Given the description of an element on the screen output the (x, y) to click on. 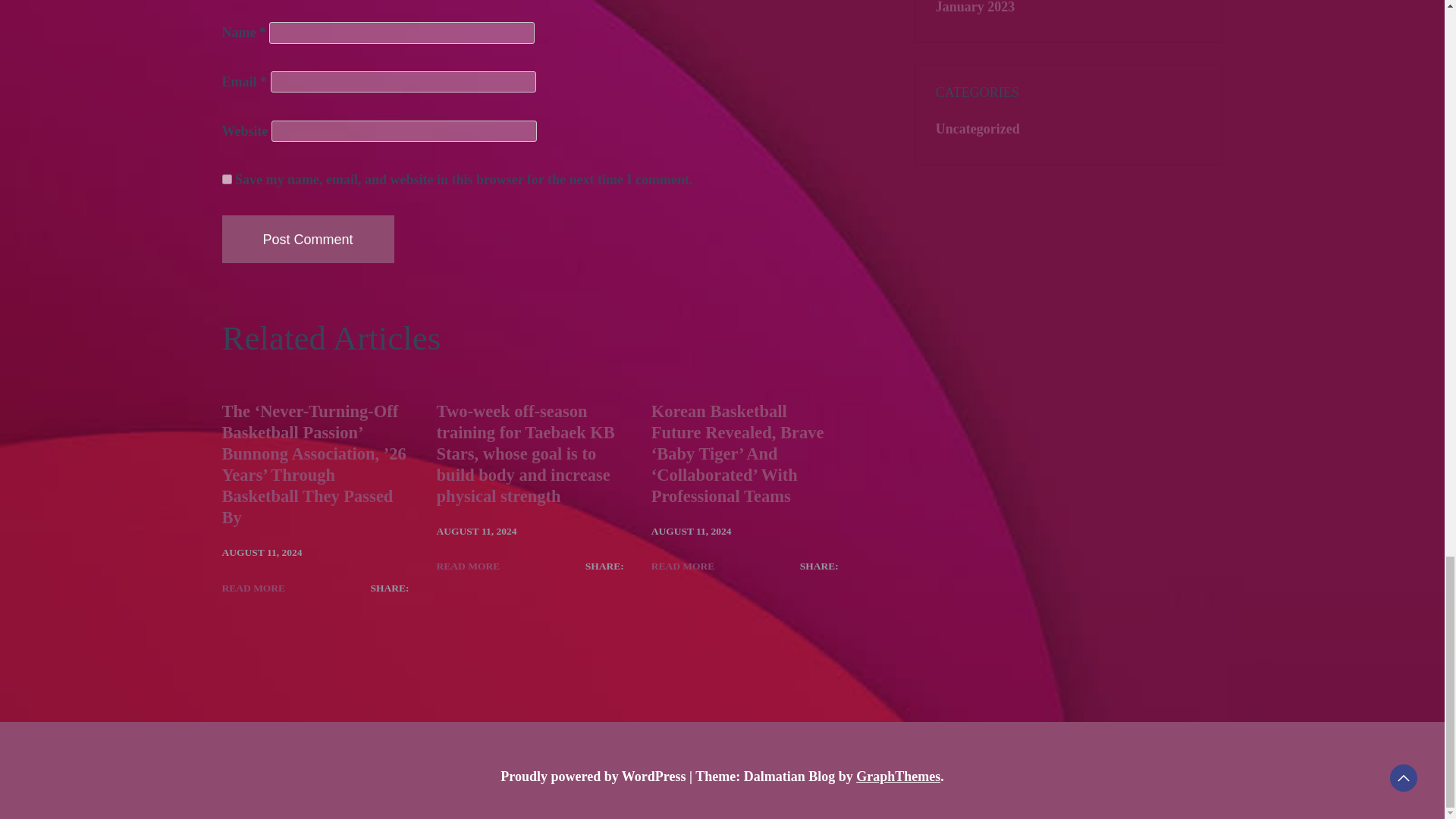
AUGUST 11, 2024 (476, 531)
READ MORE (682, 566)
Post Comment (307, 238)
AUGUST 11, 2024 (261, 552)
Post Comment (307, 238)
READ MORE (253, 588)
AUGUST 11, 2024 (691, 531)
yes (226, 179)
READ MORE (468, 566)
